Given the description of an element on the screen output the (x, y) to click on. 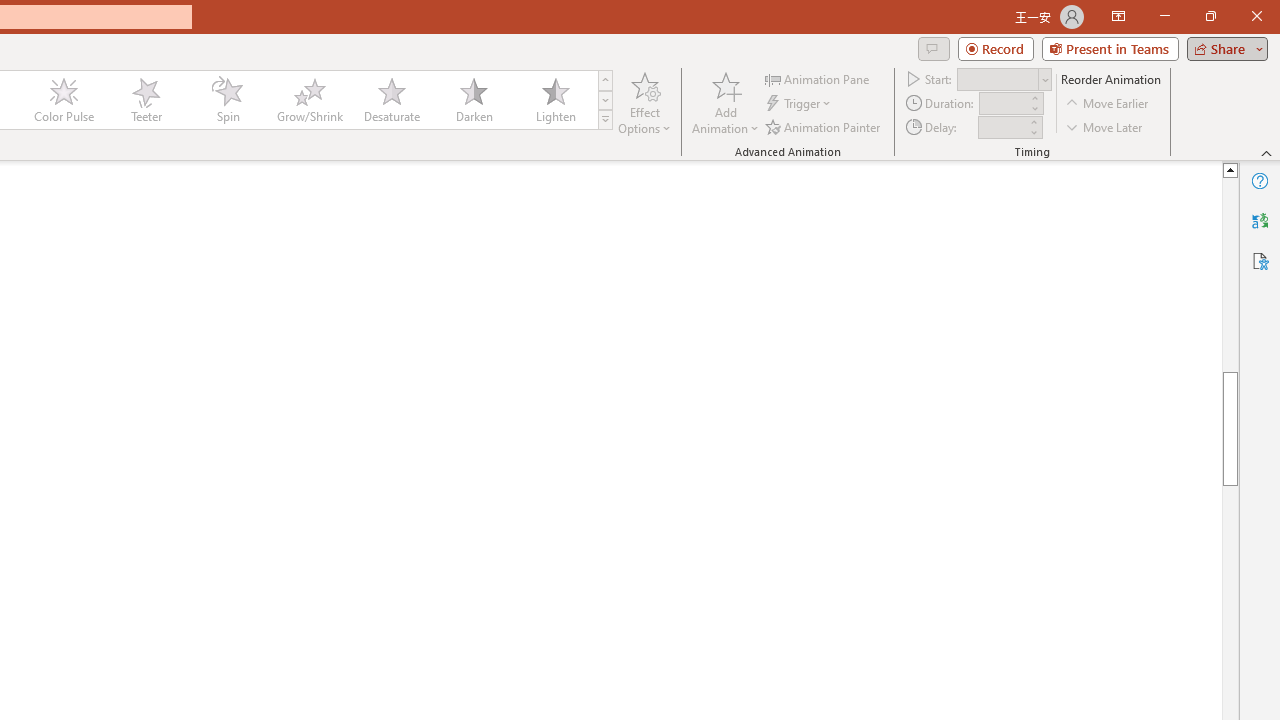
Animation Duration (1003, 103)
Lighten (555, 100)
Desaturate (391, 100)
Darken (473, 100)
Trigger (799, 103)
